Given the description of an element on the screen output the (x, y) to click on. 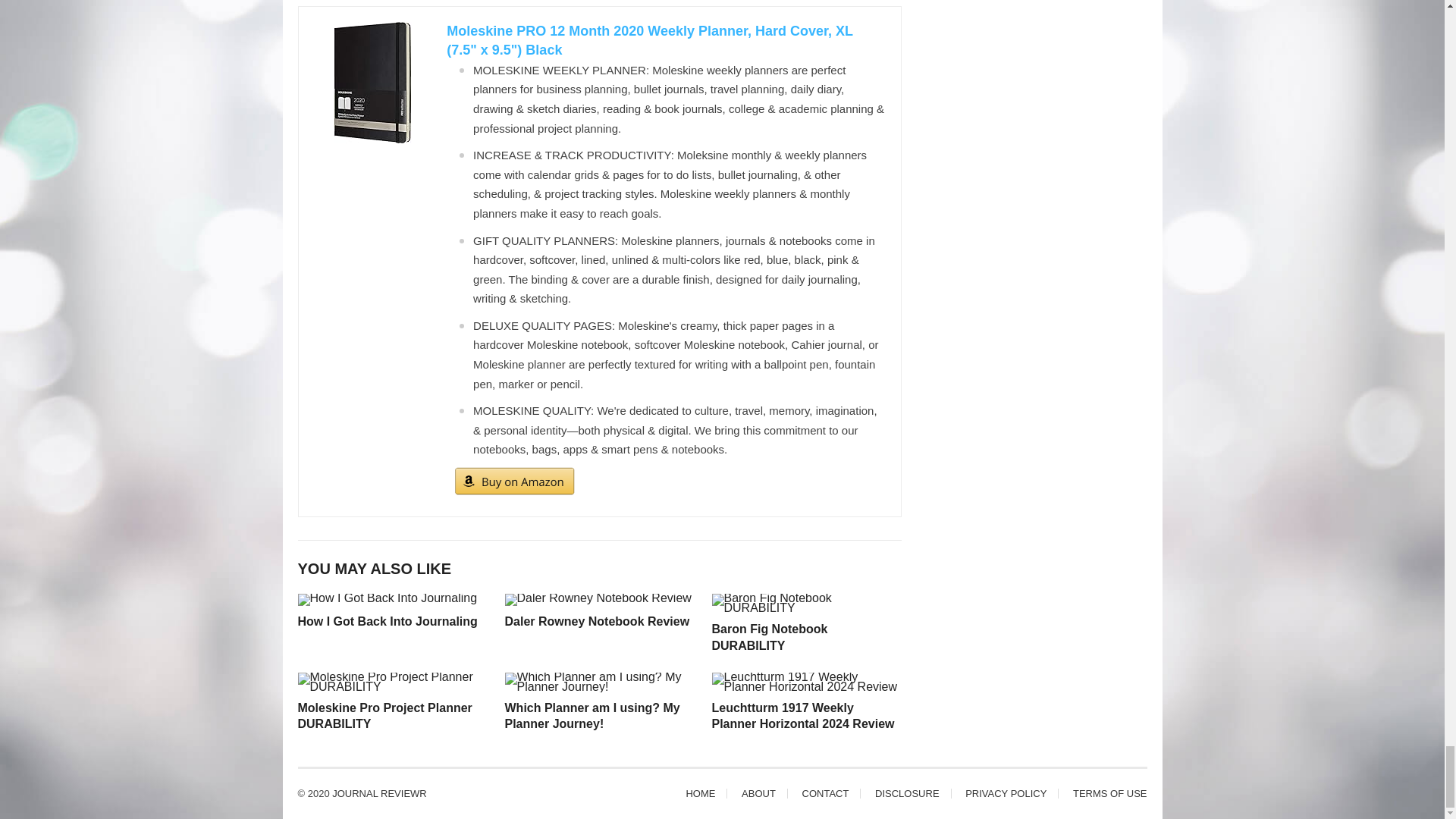
Daler Rowney Notebook Review (597, 621)
Baron Fig Notebook DURABILITY (769, 636)
ABOUT (758, 793)
Which Planner am I using? My Planner Journey! (592, 716)
Moleskine Pro Project Planner DURABILITY (384, 716)
CONTACT (825, 793)
HOME (699, 793)
How I Got Back Into Journaling (387, 621)
Leuchtturm 1917 Weekly Planner Horizontal 2024 Review (802, 716)
JOURNAL REVIEWR (378, 793)
